Given the description of an element on the screen output the (x, y) to click on. 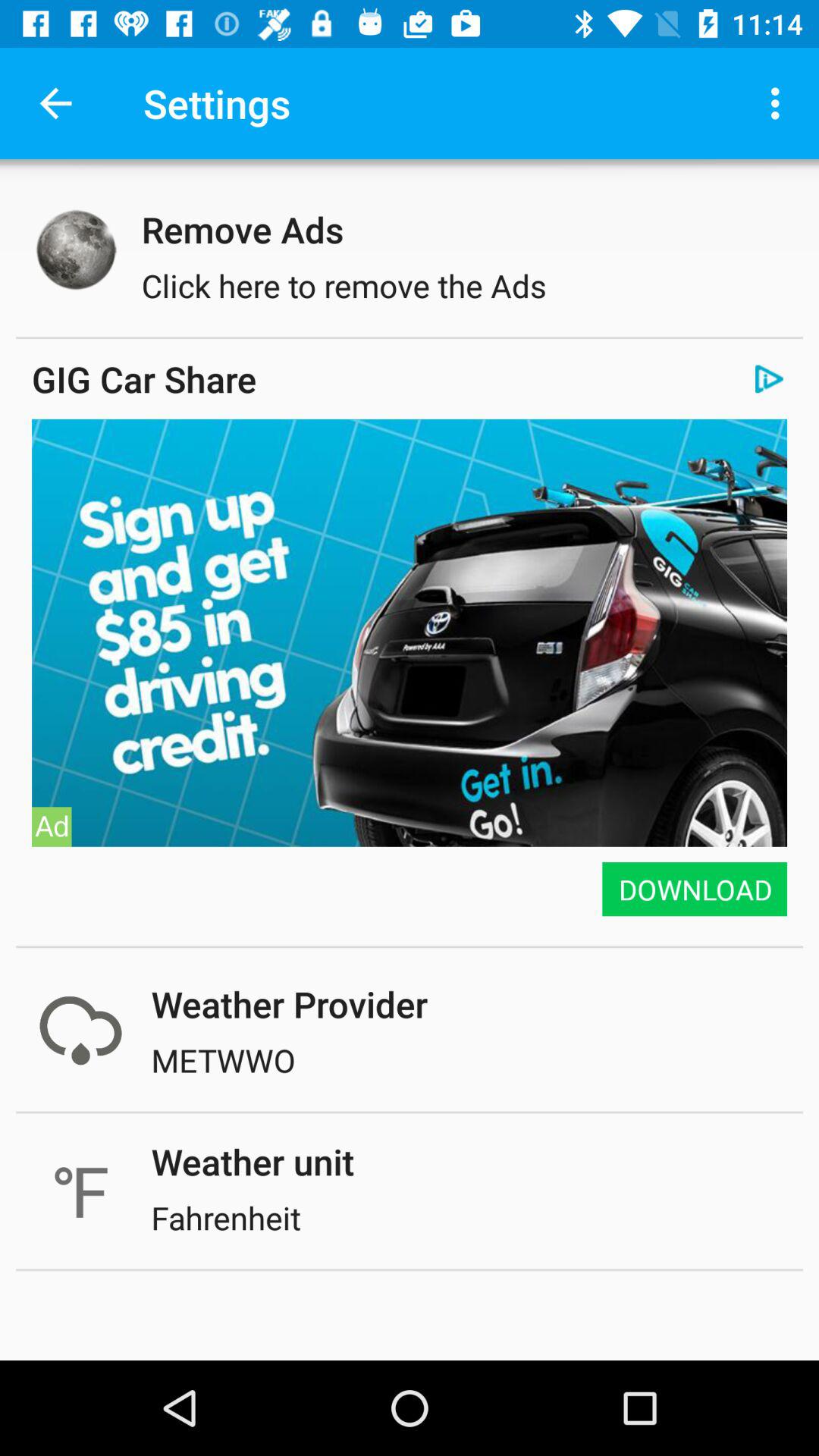
click the item on the left (51, 826)
